Given the description of an element on the screen output the (x, y) to click on. 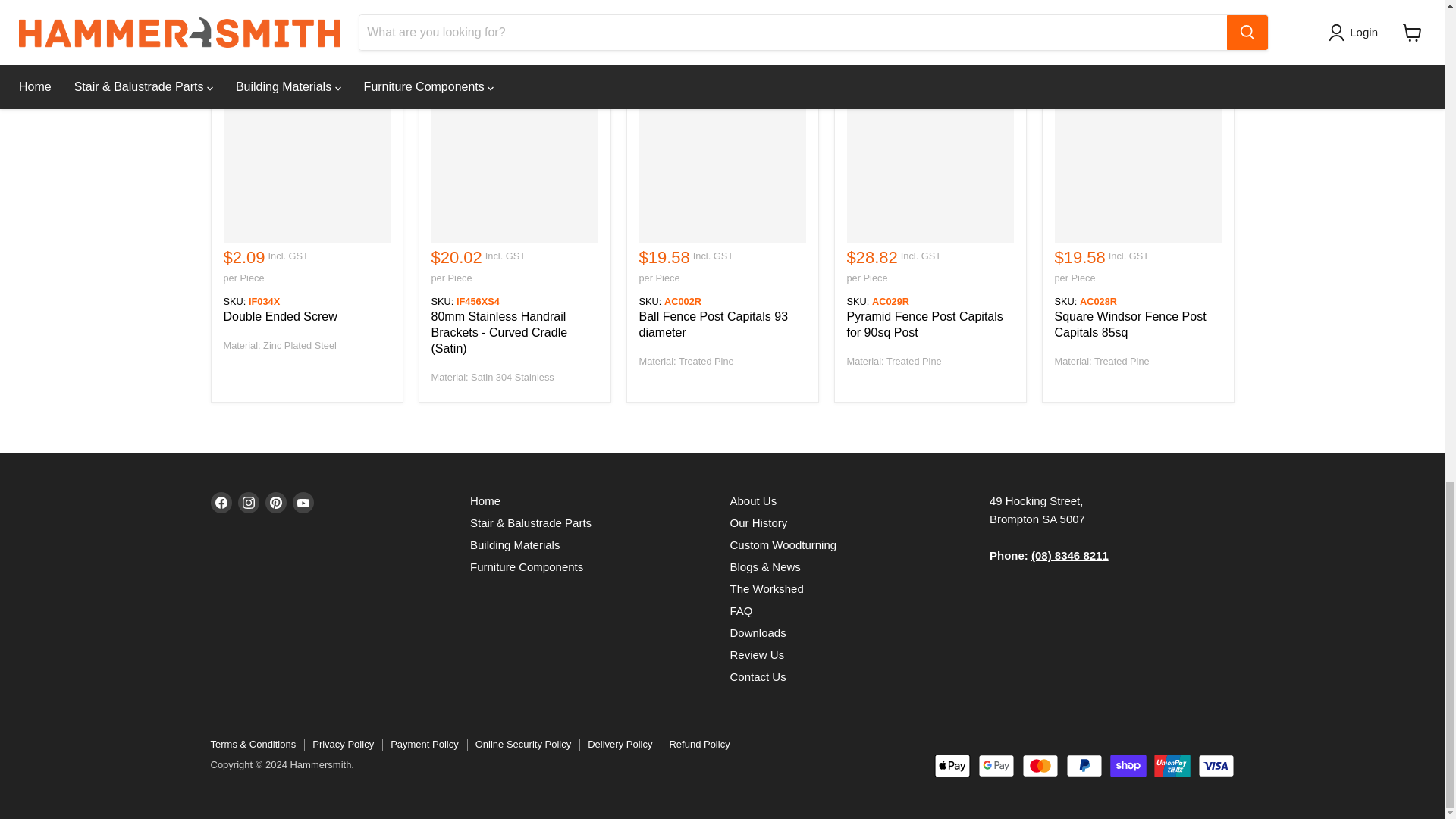
Instagram (248, 502)
Pinterest (275, 502)
YouTube (303, 502)
Facebook (221, 502)
tel:0883468211 (1069, 554)
